Given the description of an element on the screen output the (x, y) to click on. 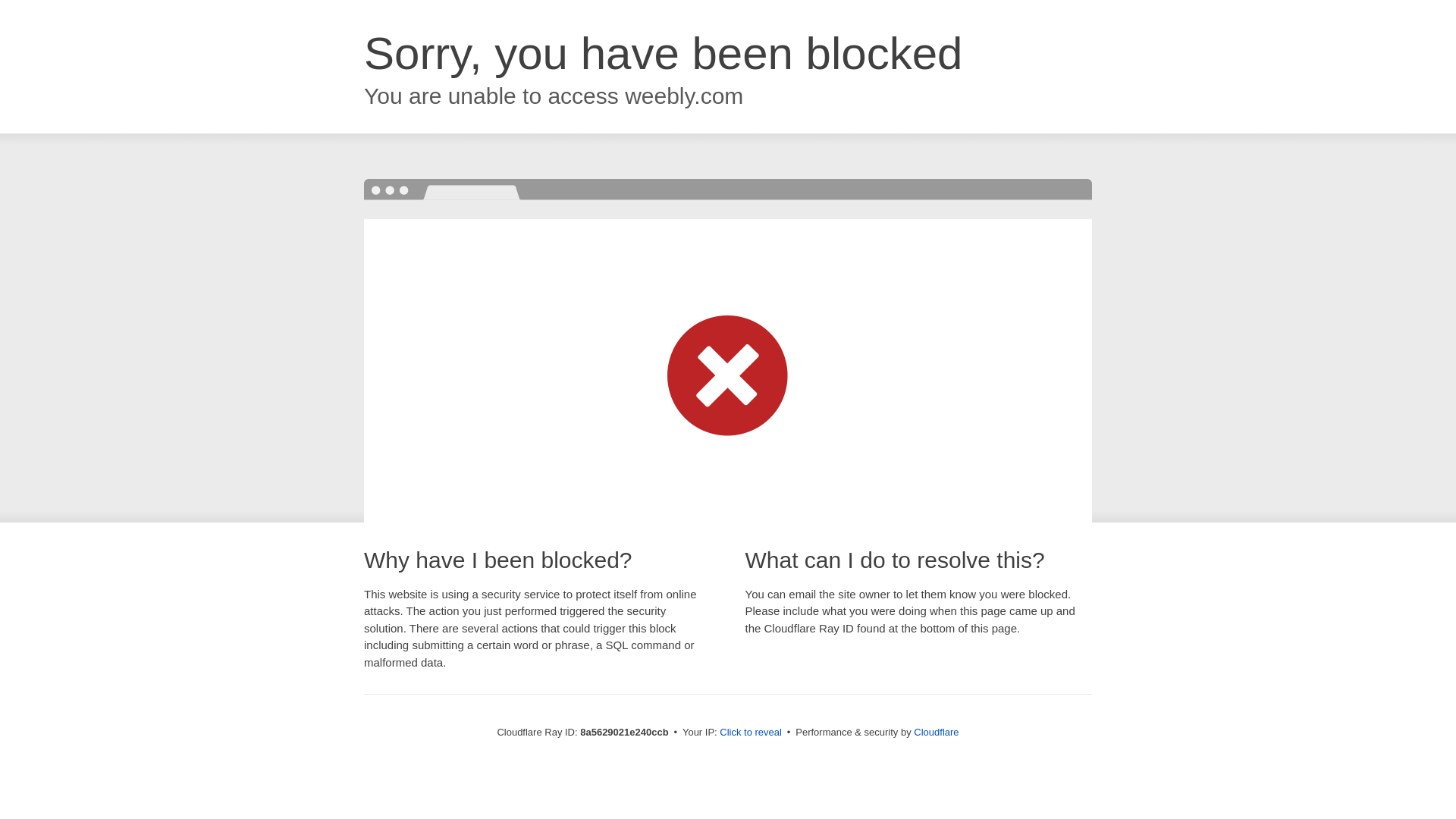
Click to reveal (750, 732)
Cloudflare (936, 731)
